Given the description of an element on the screen output the (x, y) to click on. 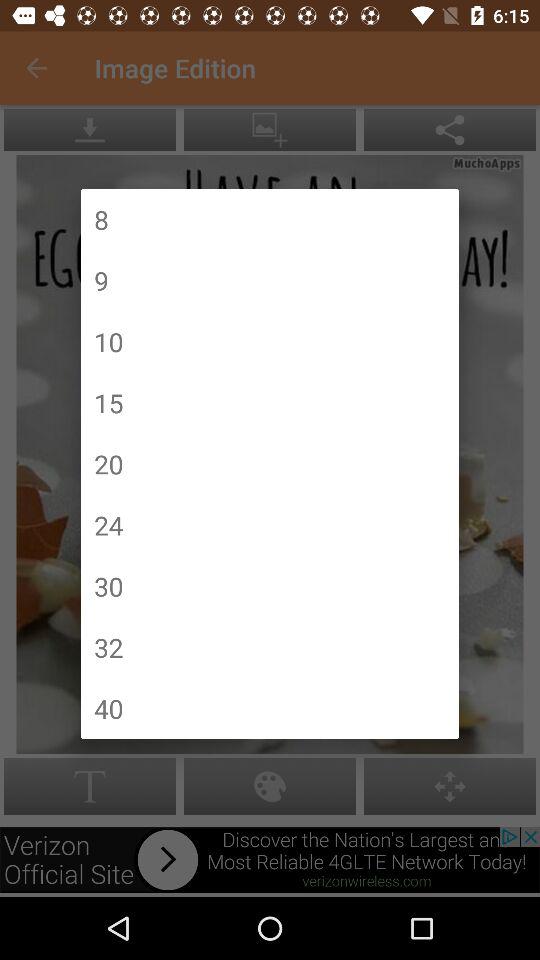
select 20 item (108, 463)
